Given the description of an element on the screen output the (x, y) to click on. 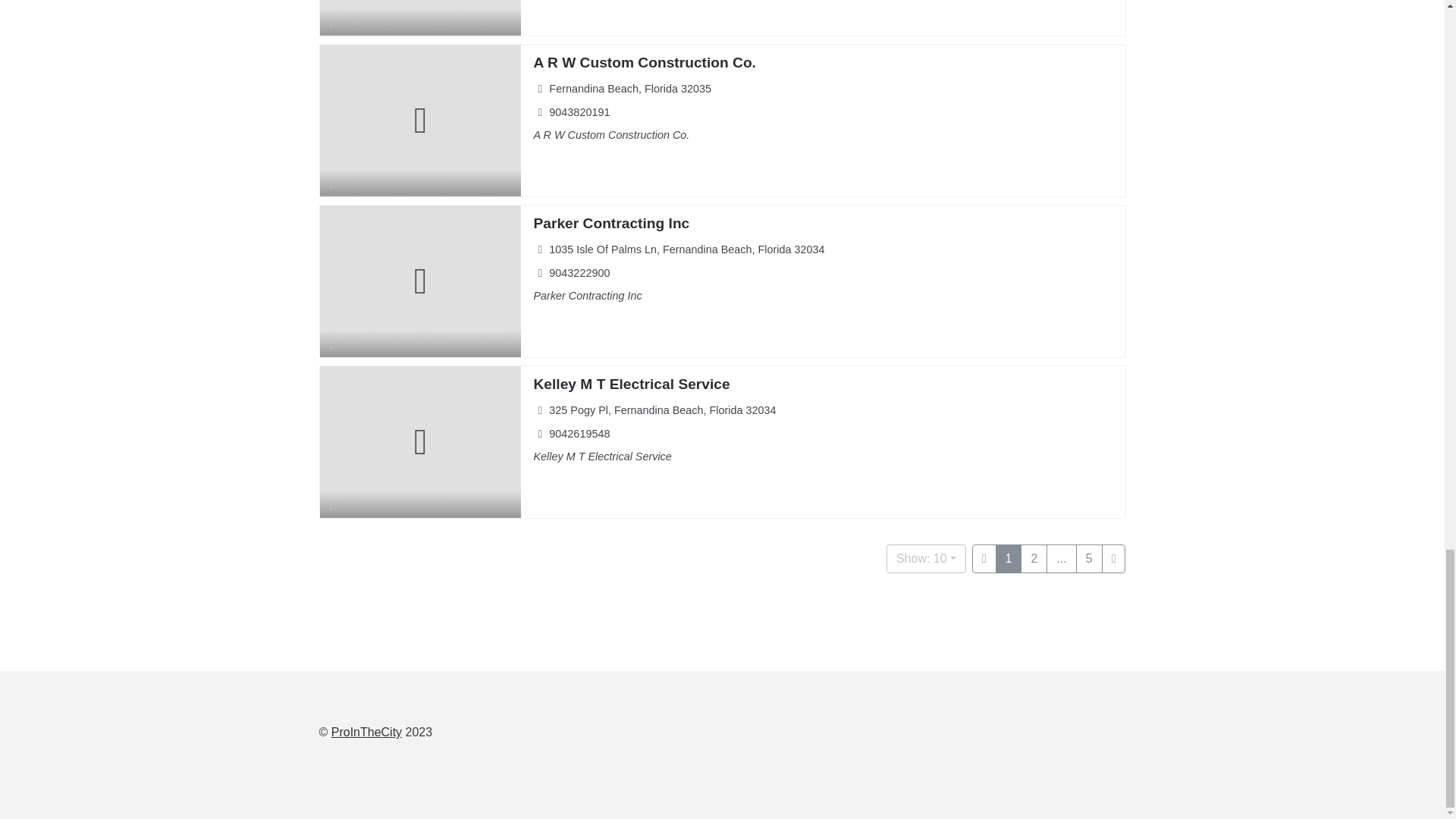
A R W Custom Construction Co. (643, 62)
